Given the description of an element on the screen output the (x, y) to click on. 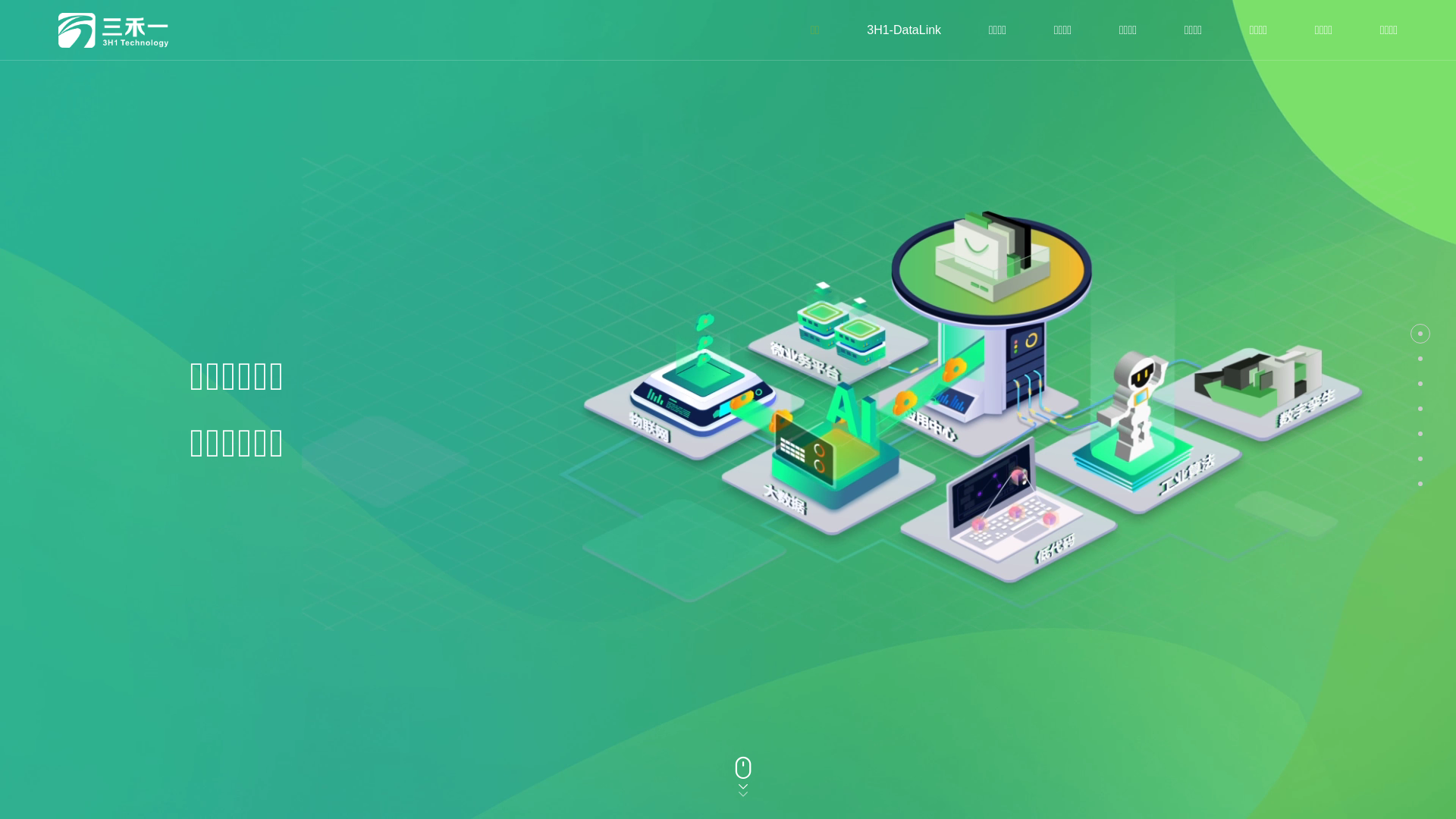
3H1-DataLink Element type: text (903, 30)
